Given the description of an element on the screen output the (x, y) to click on. 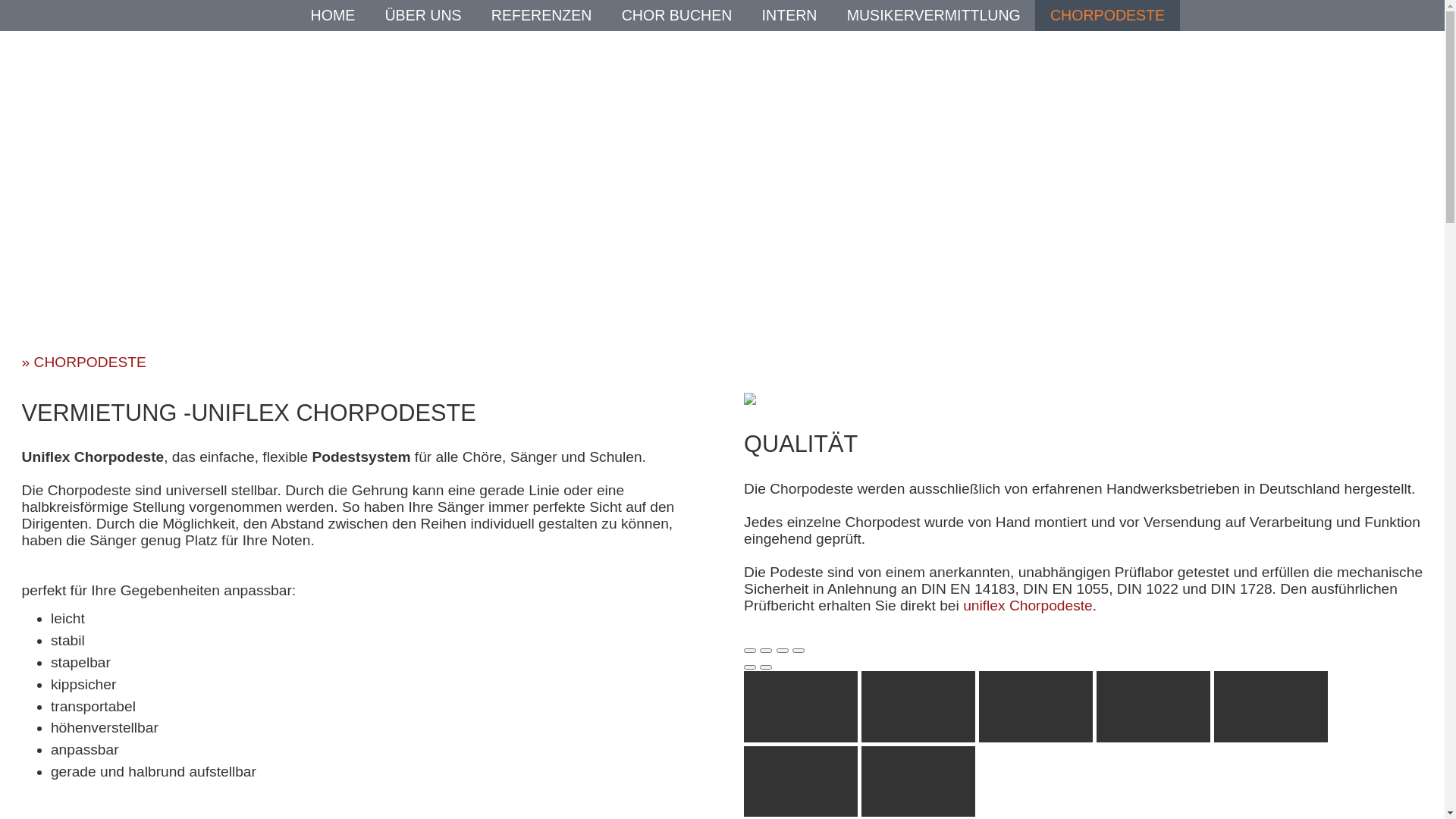
Share Element type: hover (765, 650)
uniflex Chorpodeste Element type: text (1027, 605)
Previous (arrow left) Element type: hover (749, 667)
Zoom in/out Element type: hover (798, 650)
CHOR BUCHEN Element type: text (676, 14)
Toggle fullscreen Element type: hover (782, 650)
Anmelden Element type: text (707, 233)
CHORPODESTE Element type: text (1107, 14)
HOME Element type: text (332, 14)
Next (arrow right) Element type: hover (765, 667)
MUSIKERVERMITTLUNG Element type: text (933, 14)
REFERENZEN Element type: text (541, 14)
INTERN Element type: text (789, 14)
Close (Esc) Element type: hover (749, 650)
